Given the description of an element on the screen output the (x, y) to click on. 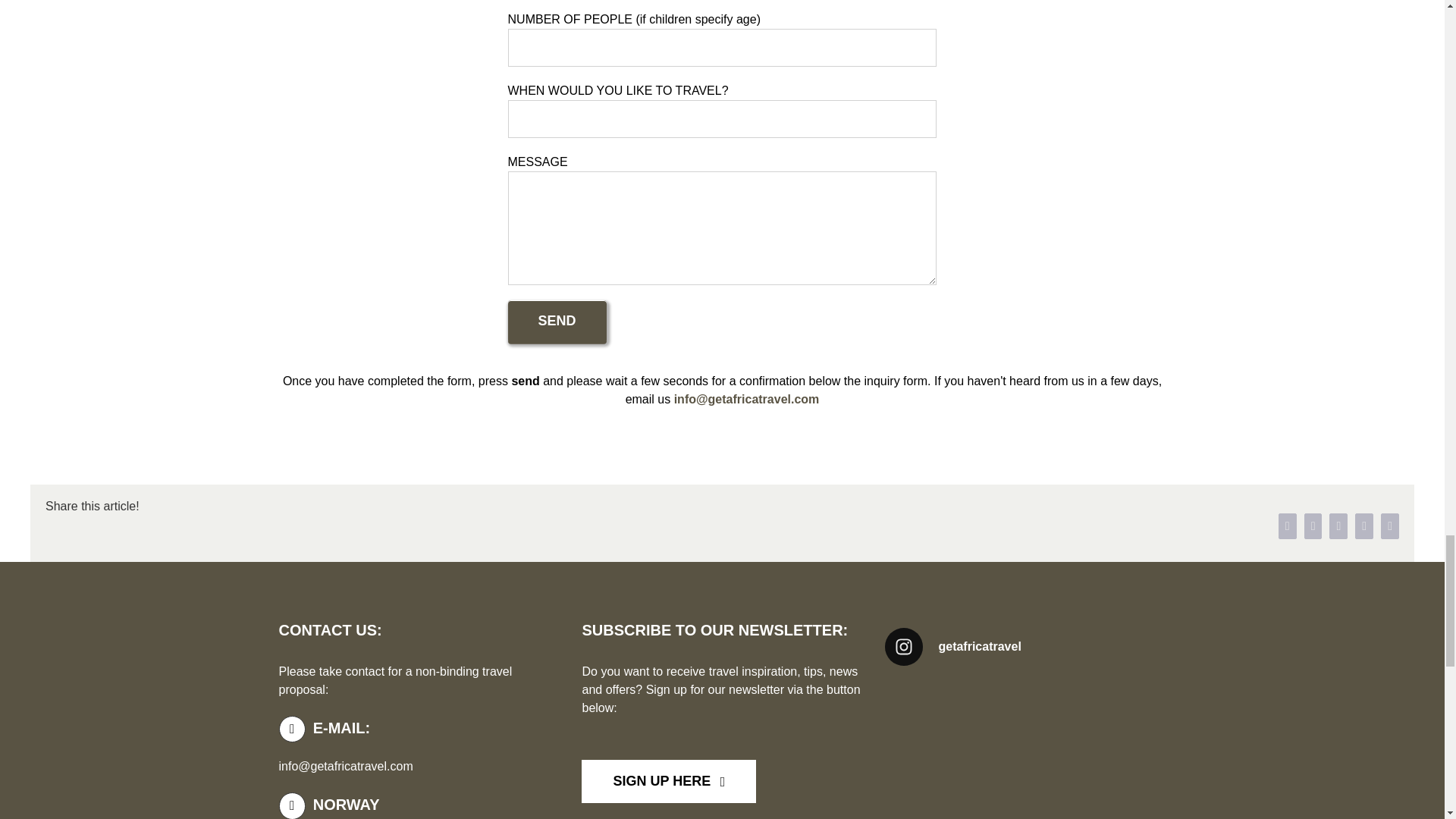
SIGN UP HERE (720, 789)
Send (557, 321)
